Given the description of an element on the screen output the (x, y) to click on. 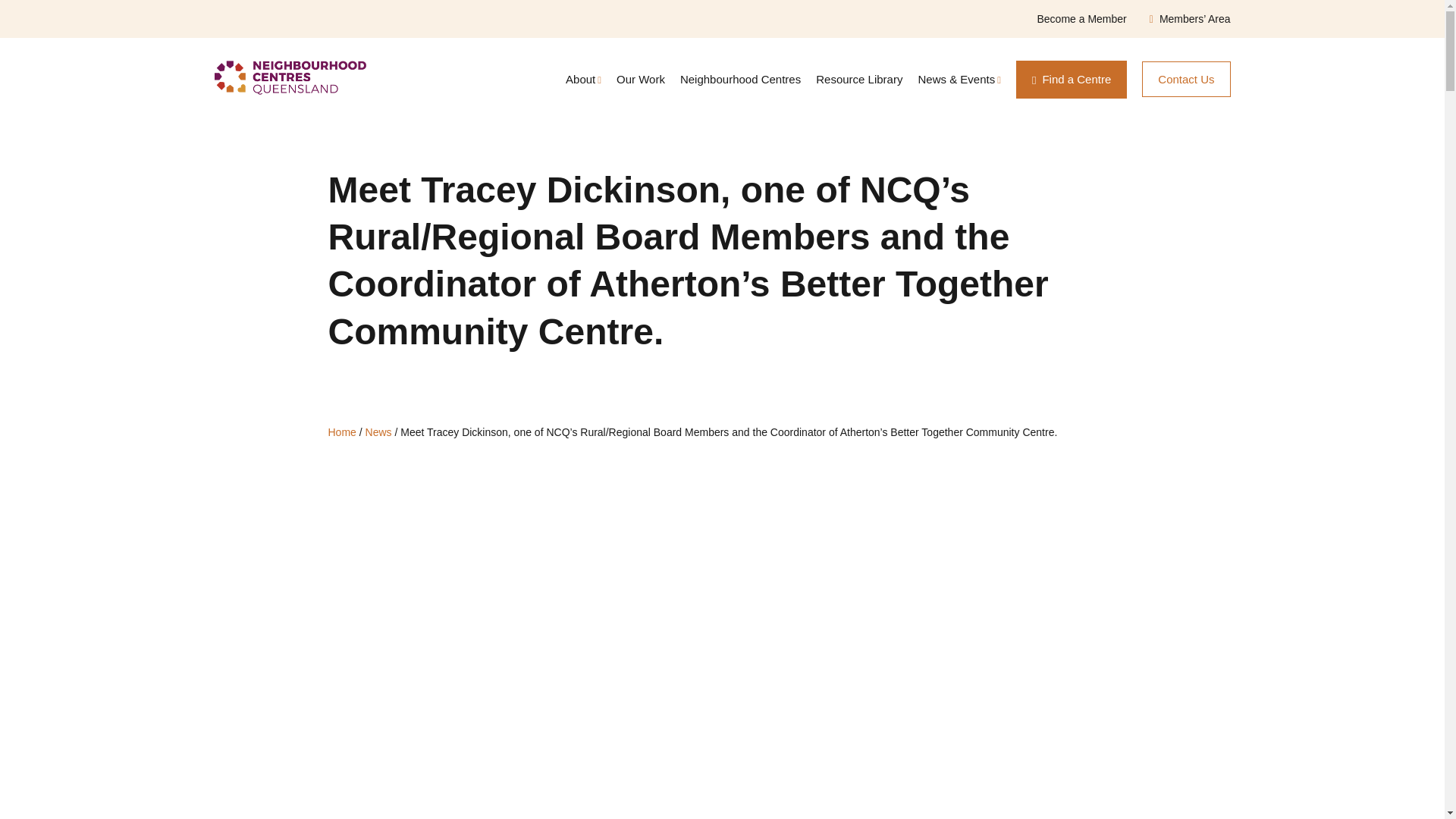
Neighbourhood Centres (739, 78)
News (378, 431)
Find a Centre (1071, 79)
Become a Member (1080, 19)
Home (341, 431)
About (580, 78)
Our Work (640, 78)
Resource Library (858, 78)
Contact Us (1185, 79)
